Given the description of an element on the screen output the (x, y) to click on. 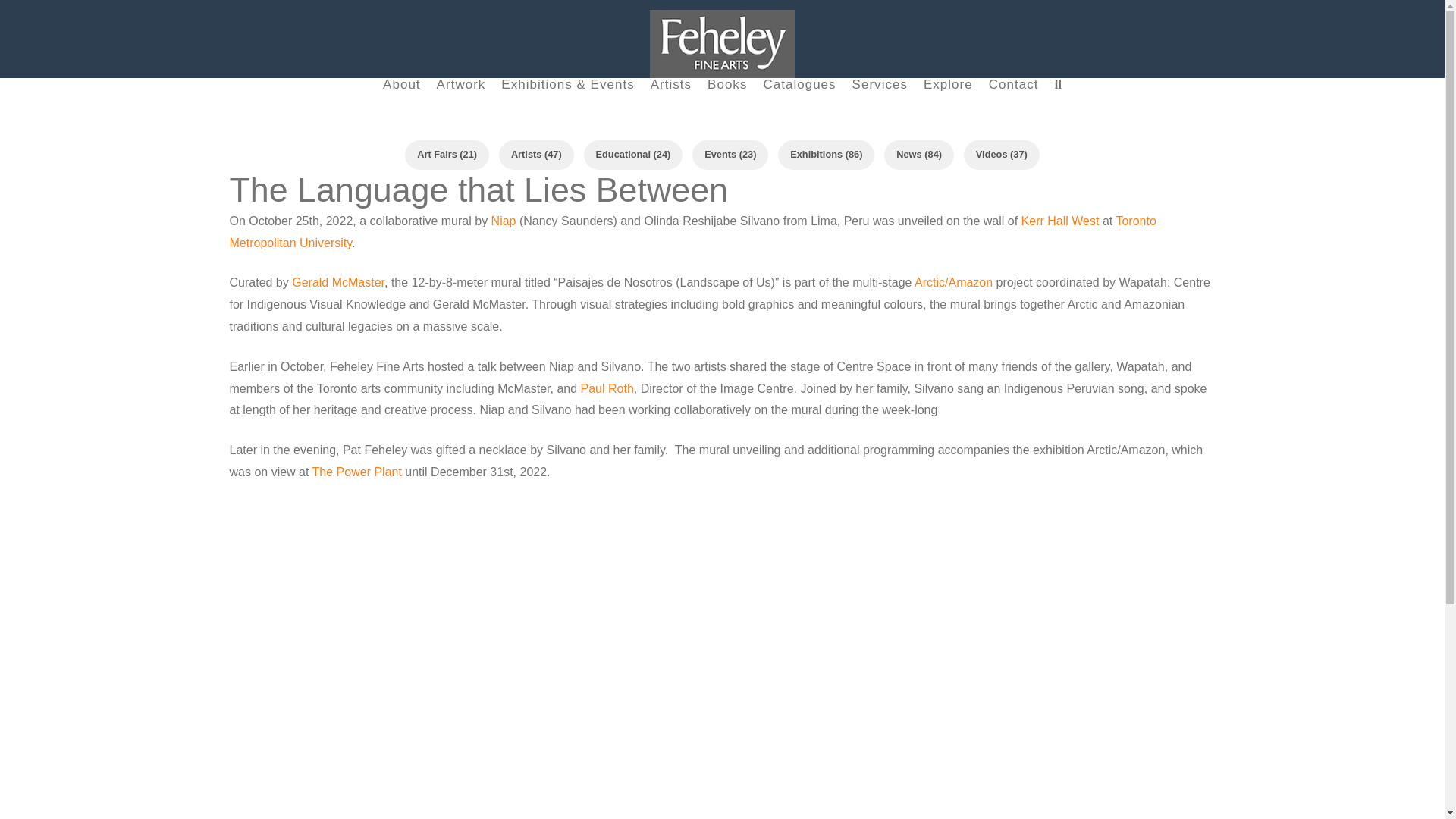
Artists (670, 101)
About (401, 101)
Services (879, 101)
Explore (947, 101)
Niap (504, 220)
The Power Plant (357, 472)
Artwork (460, 101)
Toronto Metropolitan University (692, 231)
Paul Roth (606, 388)
Contact (1012, 101)
Kerr Hall West (1060, 220)
Books (726, 101)
Catalogues (798, 101)
Gerald McMaster (338, 282)
